Given the description of an element on the screen output the (x, y) to click on. 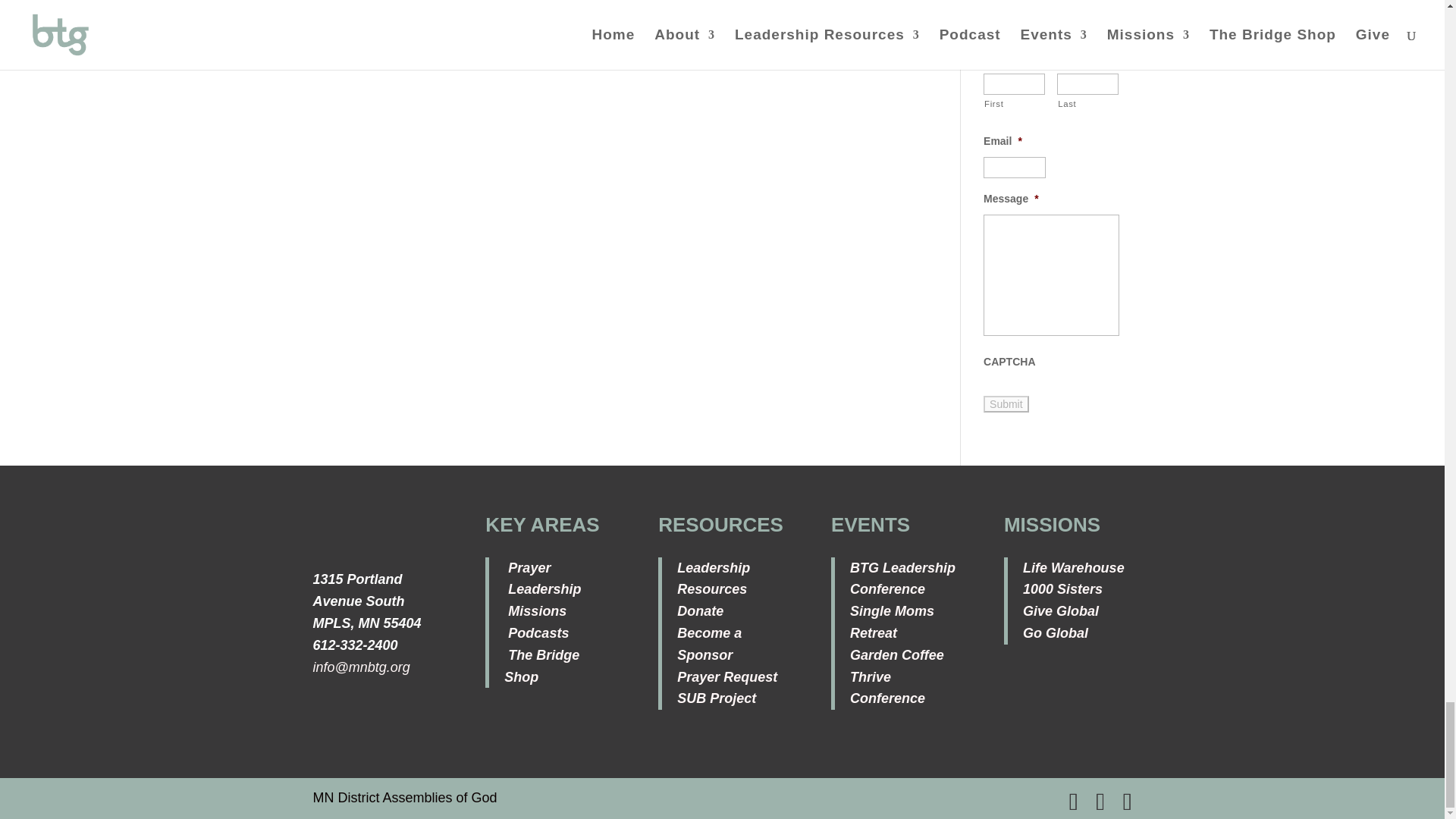
Submit (1006, 403)
